Given the description of an element on the screen output the (x, y) to click on. 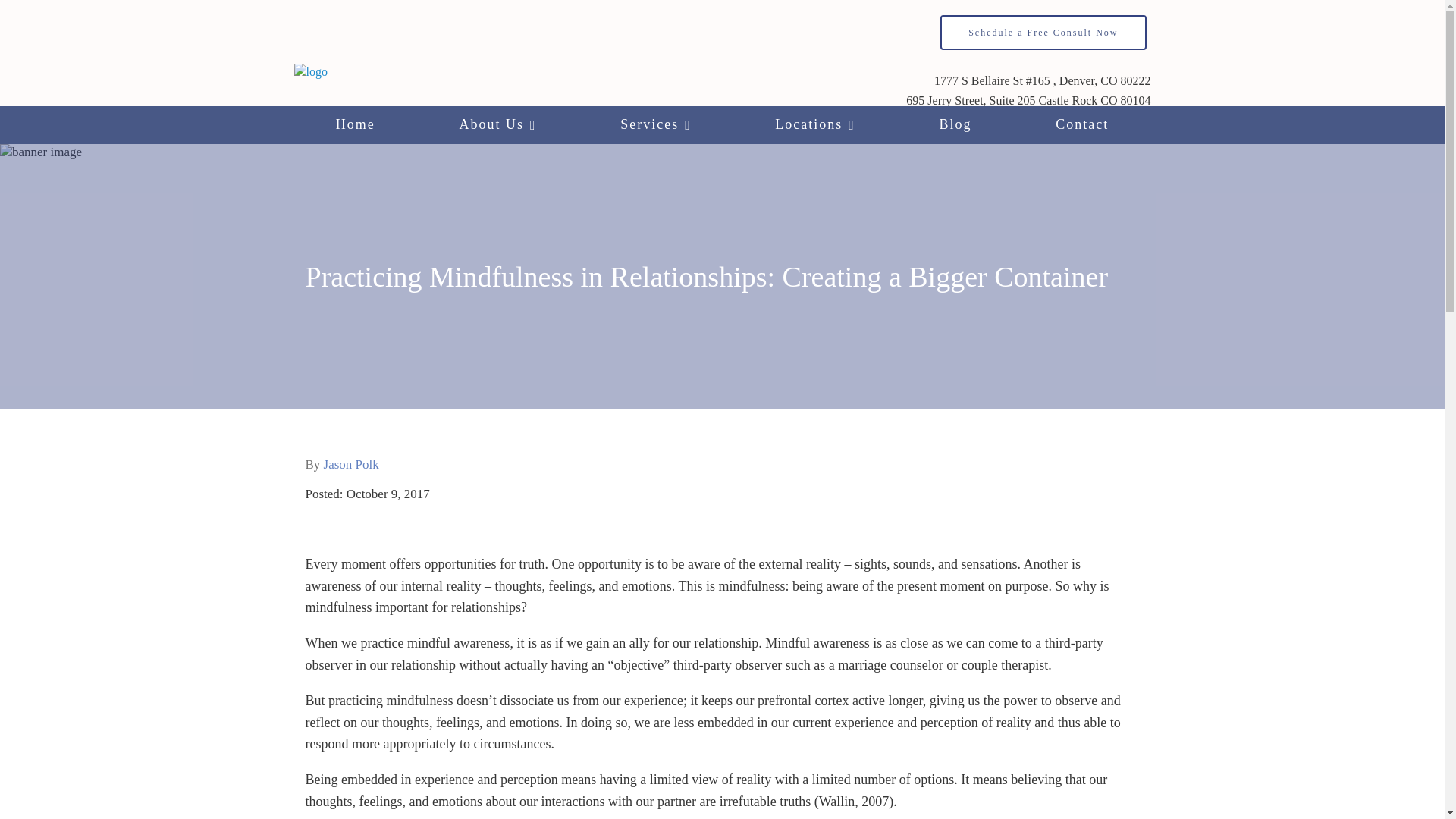
Locations (814, 125)
Services (655, 125)
Contact (1082, 125)
About Us (497, 125)
Blog (954, 125)
Home (355, 125)
Schedule a Free Consult Now (1042, 32)
